Given the description of an element on the screen output the (x, y) to click on. 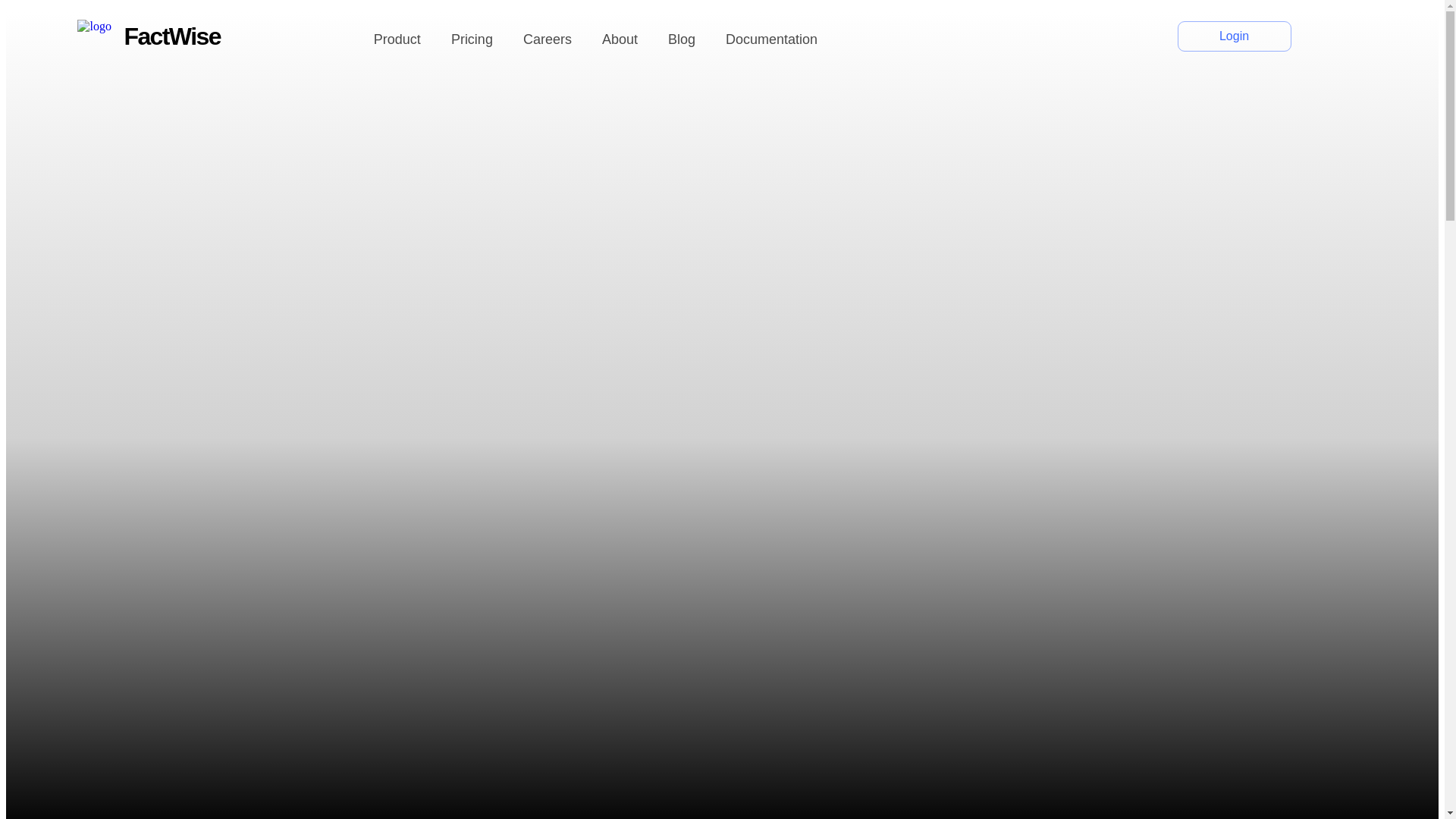
Login (1234, 36)
Careers (547, 39)
About (619, 39)
Product (397, 39)
Documentation (770, 39)
FactWise (148, 36)
Blog (681, 39)
Pricing (472, 39)
